Given the description of an element on the screen output the (x, y) to click on. 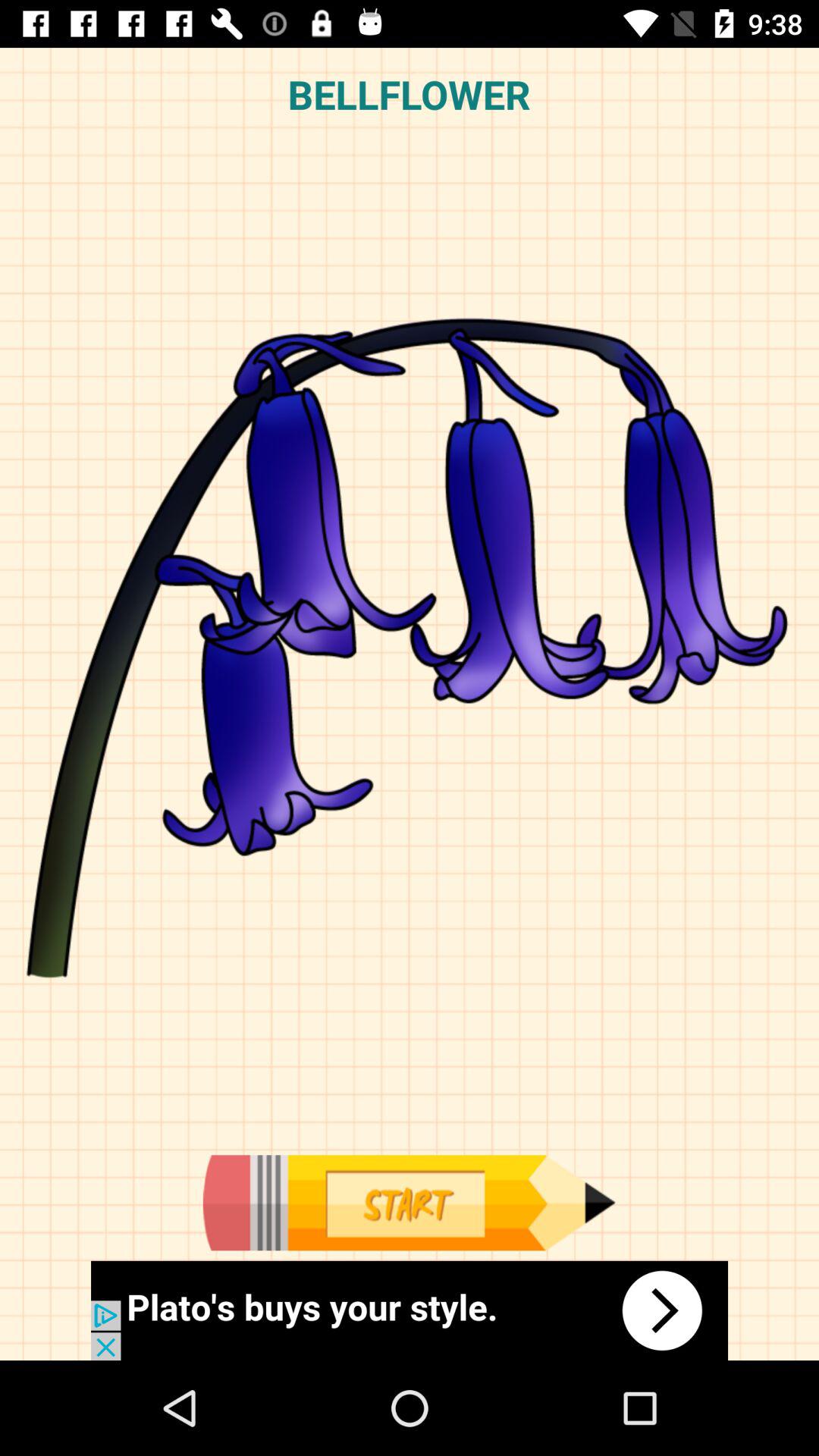
play button (409, 1202)
